Given the description of an element on the screen output the (x, y) to click on. 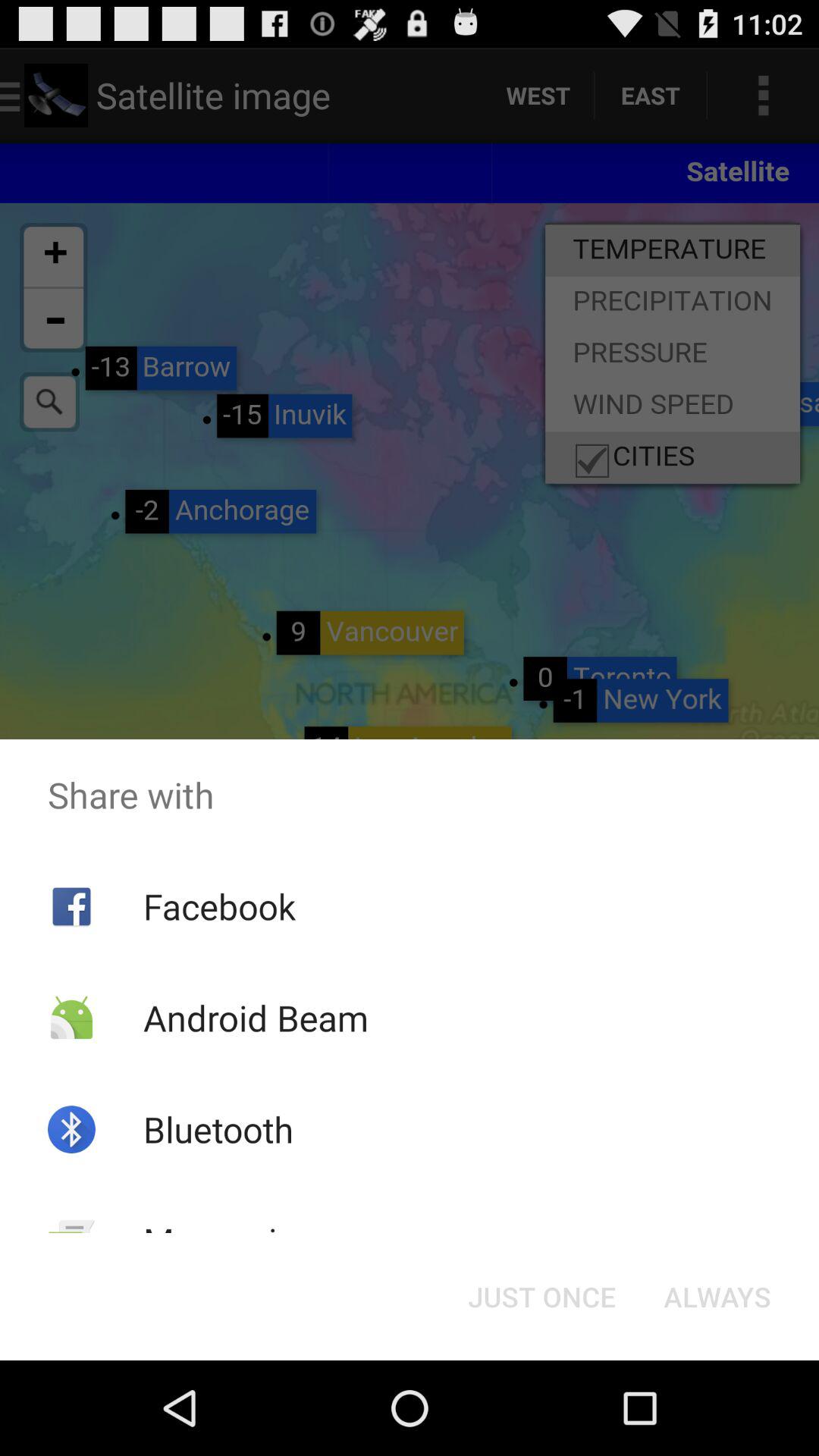
swipe until the just once item (541, 1296)
